Given the description of an element on the screen output the (x, y) to click on. 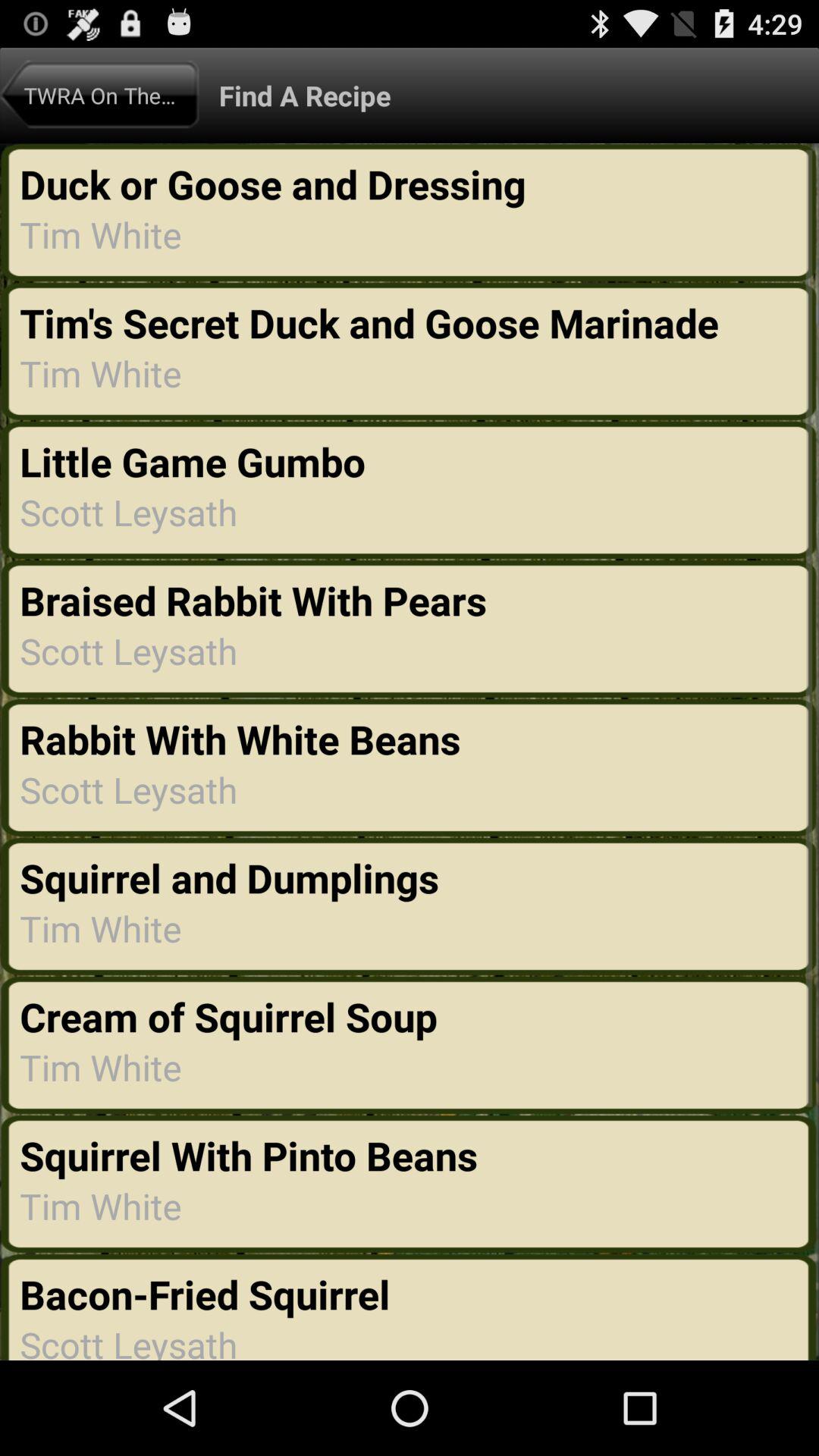
turn off icon above tim white  app (373, 322)
